Given the description of an element on the screen output the (x, y) to click on. 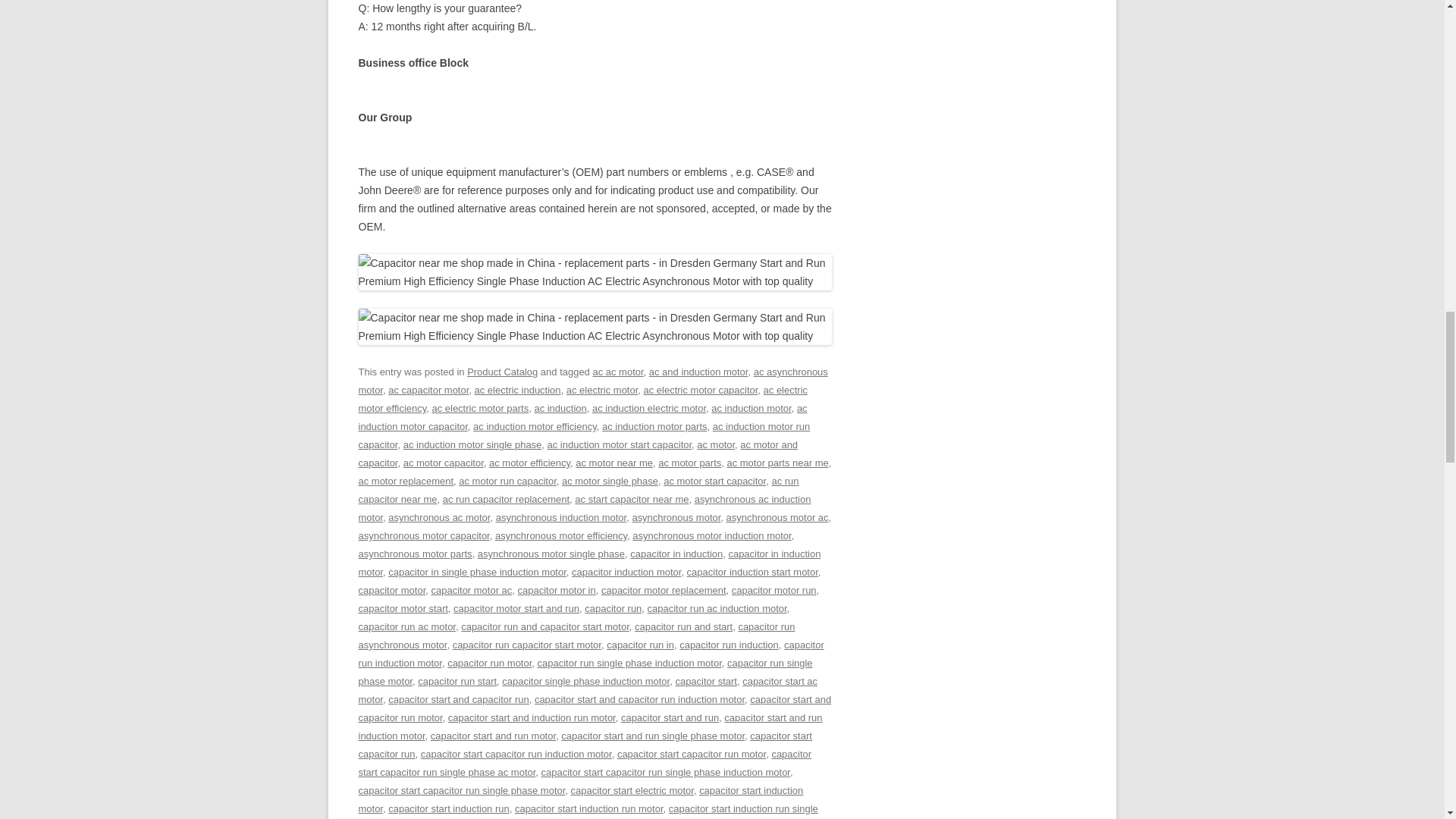
ac electric motor capacitor (700, 389)
ac induction motor (750, 408)
asynchronous ac induction motor (584, 508)
ac run capacitor replacement (505, 499)
ac ac motor (617, 371)
ac electric induction (517, 389)
ac electric motor parts (479, 408)
ac motor run capacitor (507, 480)
ac motor and capacitor (577, 453)
ac motor near me (613, 462)
ac run capacitor near me (577, 490)
ac induction motor start capacitor (620, 444)
ac induction motor capacitor (582, 417)
ac and induction motor (698, 371)
ac motor parts (689, 462)
